Given the description of an element on the screen output the (x, y) to click on. 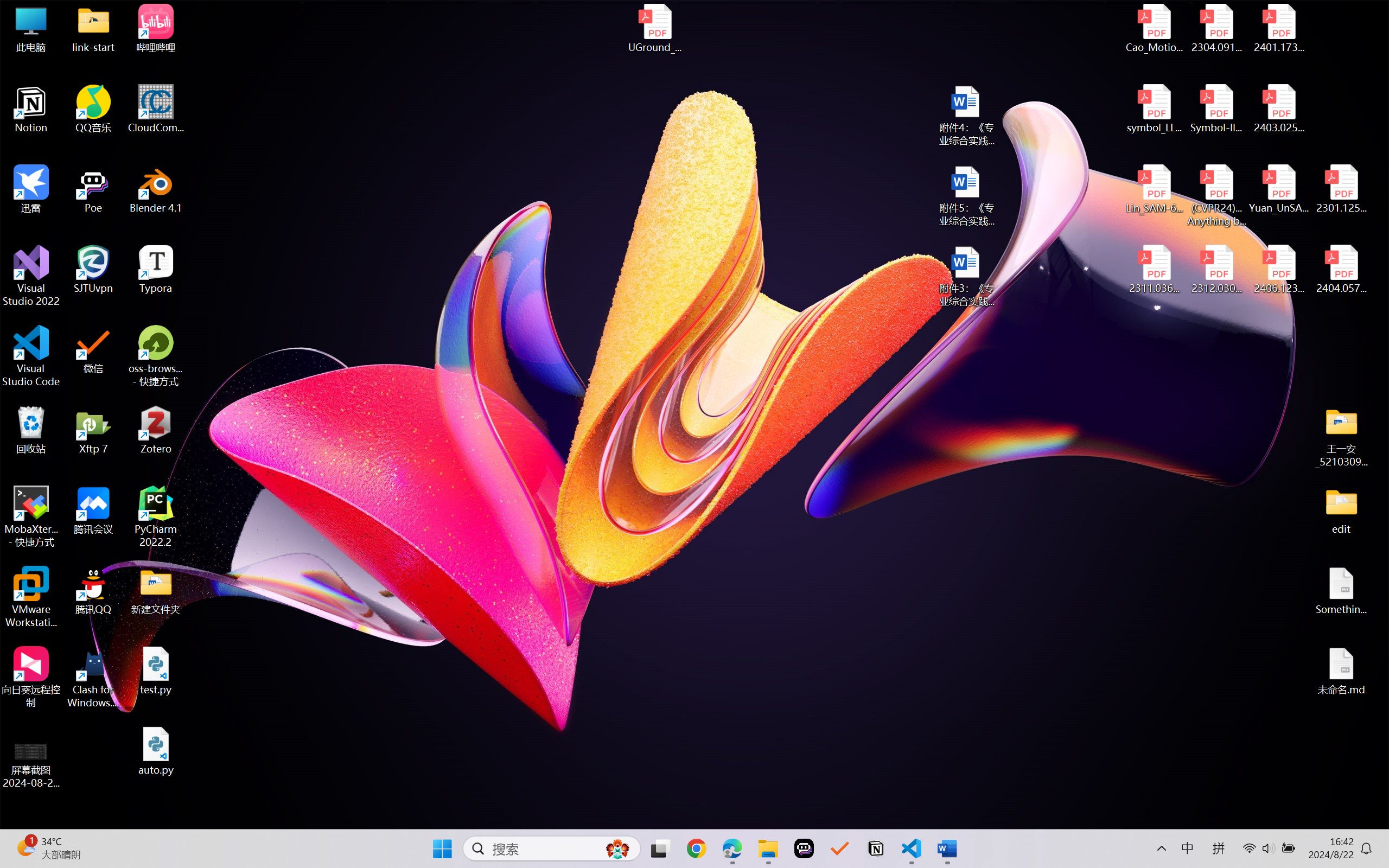
2311.03658v2.pdf (1154, 269)
2401.17399v1.pdf (1278, 28)
Google Chrome (696, 848)
Xftp 7 (93, 430)
Typora (156, 269)
test.py (156, 670)
auto.py (156, 751)
